Given the description of an element on the screen output the (x, y) to click on. 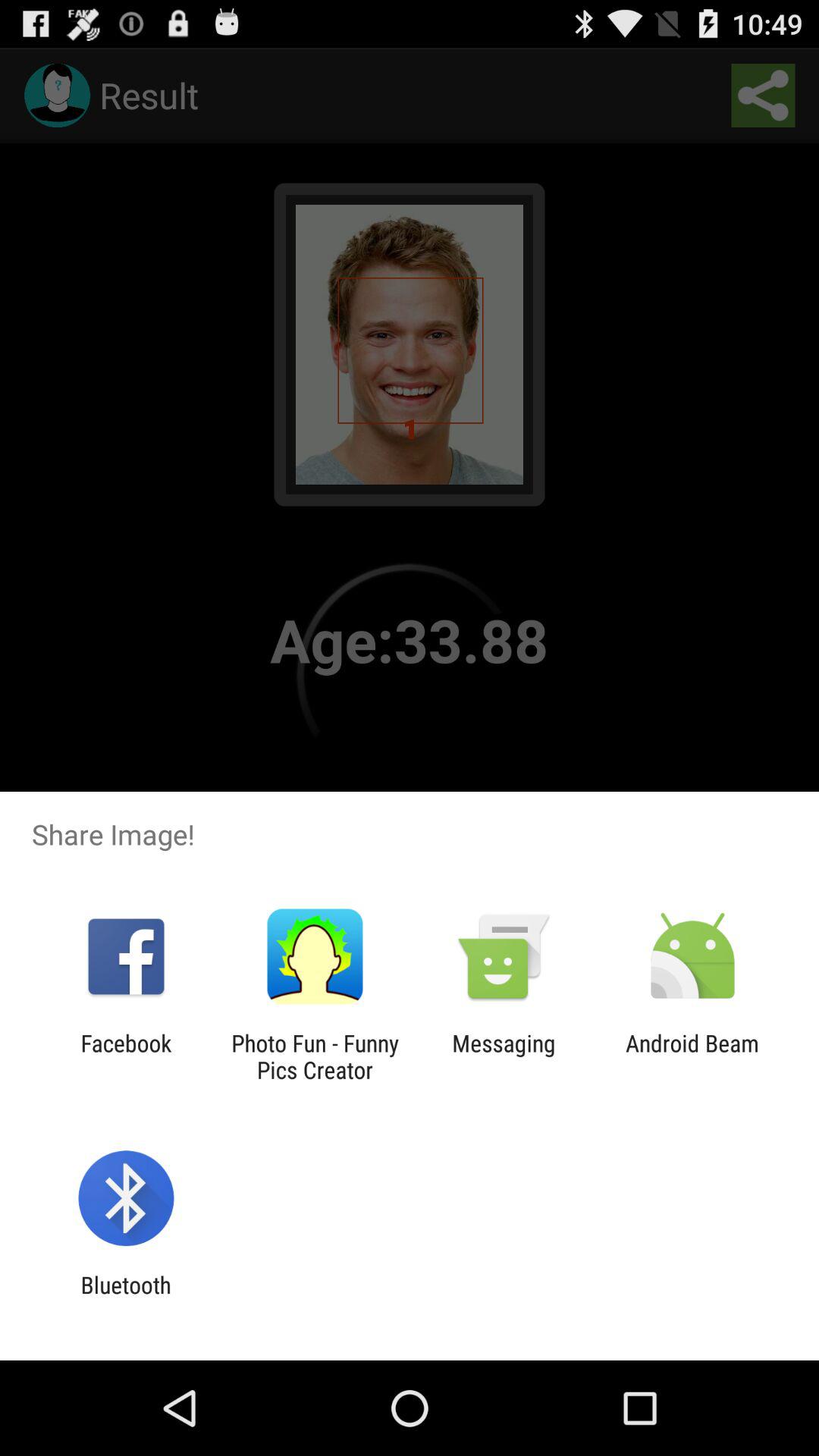
jump to android beam icon (692, 1056)
